Given the description of an element on the screen output the (x, y) to click on. 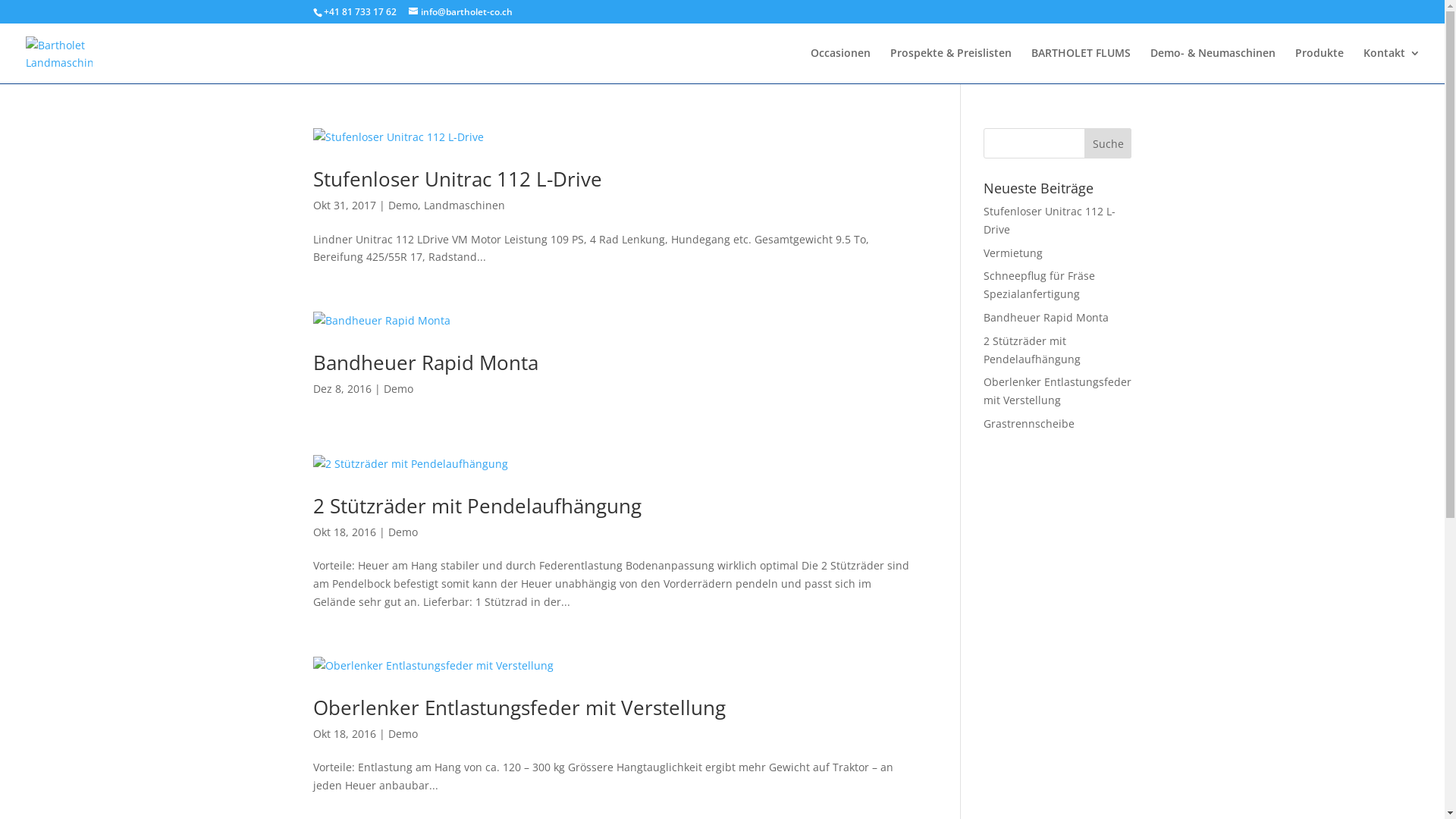
Vermietung Element type: text (1012, 252)
Suche Element type: text (1108, 143)
Occasionen Element type: text (840, 65)
Demo Element type: text (402, 531)
Grastrennscheibe Element type: text (1028, 423)
Demo Element type: text (402, 733)
Demo Element type: text (398, 388)
Stufenloser Unitrac 112 L-Drive Element type: text (456, 178)
Demo Element type: text (402, 204)
Kontakt Element type: text (1391, 65)
Bandheuer Rapid Monta Element type: text (424, 362)
BARTHOLET FLUMS Element type: text (1080, 65)
Oberlenker Entlastungsfeder mit Verstellung Element type: text (1057, 390)
Oberlenker Entlastungsfeder mit Verstellung Element type: text (518, 707)
info@bartholet-co.ch Element type: text (459, 11)
Demo- & Neumaschinen Element type: text (1212, 65)
Bandheuer Rapid Monta Element type: text (1045, 317)
+41 81 733 17 62 Element type: text (359, 11)
Stufenloser Unitrac 112 L-Drive Element type: text (1049, 219)
Prospekte & Preislisten Element type: text (950, 65)
Produkte Element type: text (1319, 65)
Landmaschinen Element type: text (463, 204)
